Given the description of an element on the screen output the (x, y) to click on. 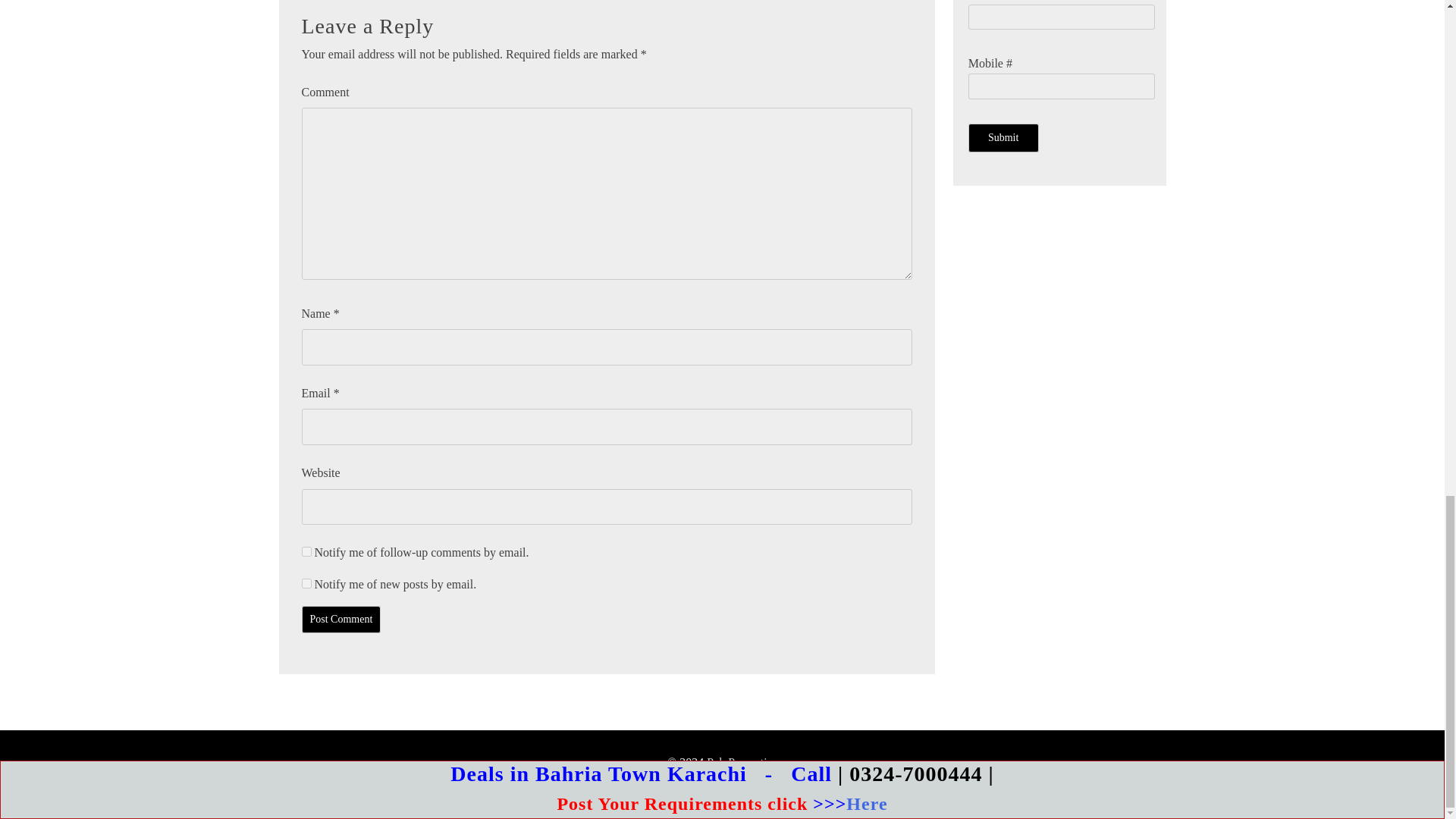
Post Comment (341, 619)
subscribe (306, 551)
Post Comment (341, 619)
Submit (1003, 137)
subscribe (306, 583)
Submit (1003, 137)
